Given the description of an element on the screen output the (x, y) to click on. 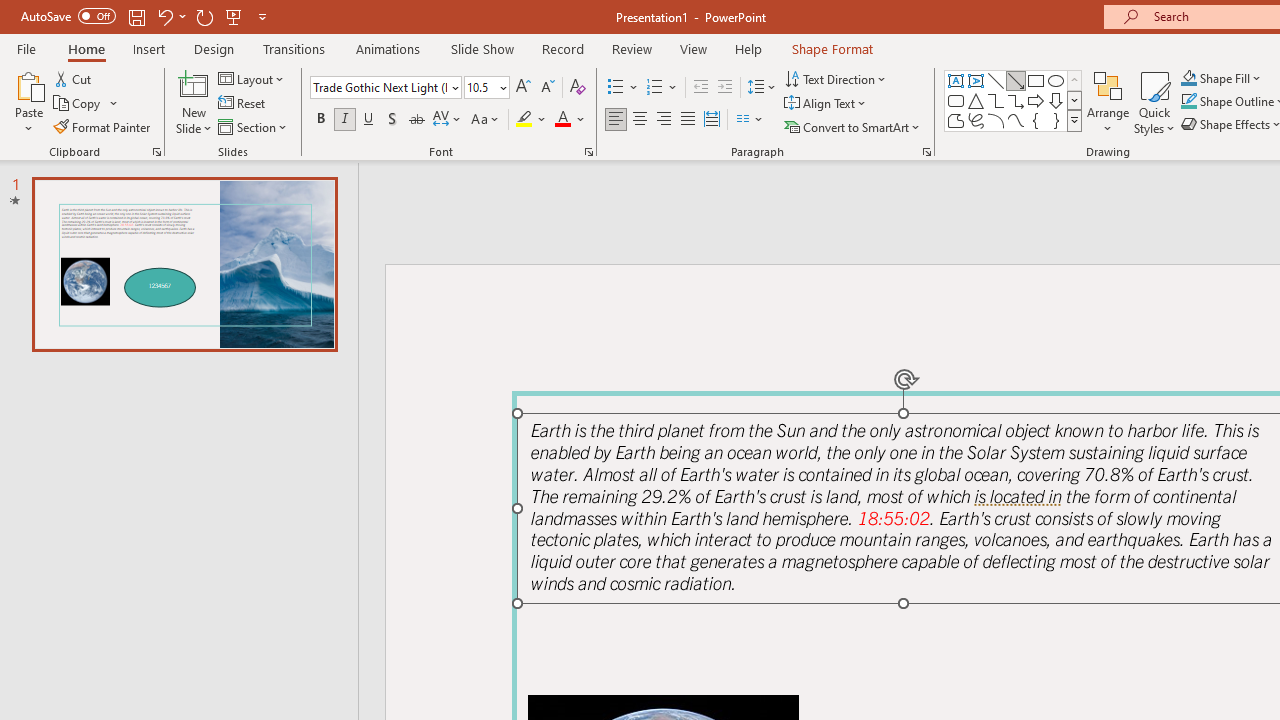
Shape Fill Aqua, Accent 2 (1188, 78)
